Given the description of an element on the screen output the (x, y) to click on. 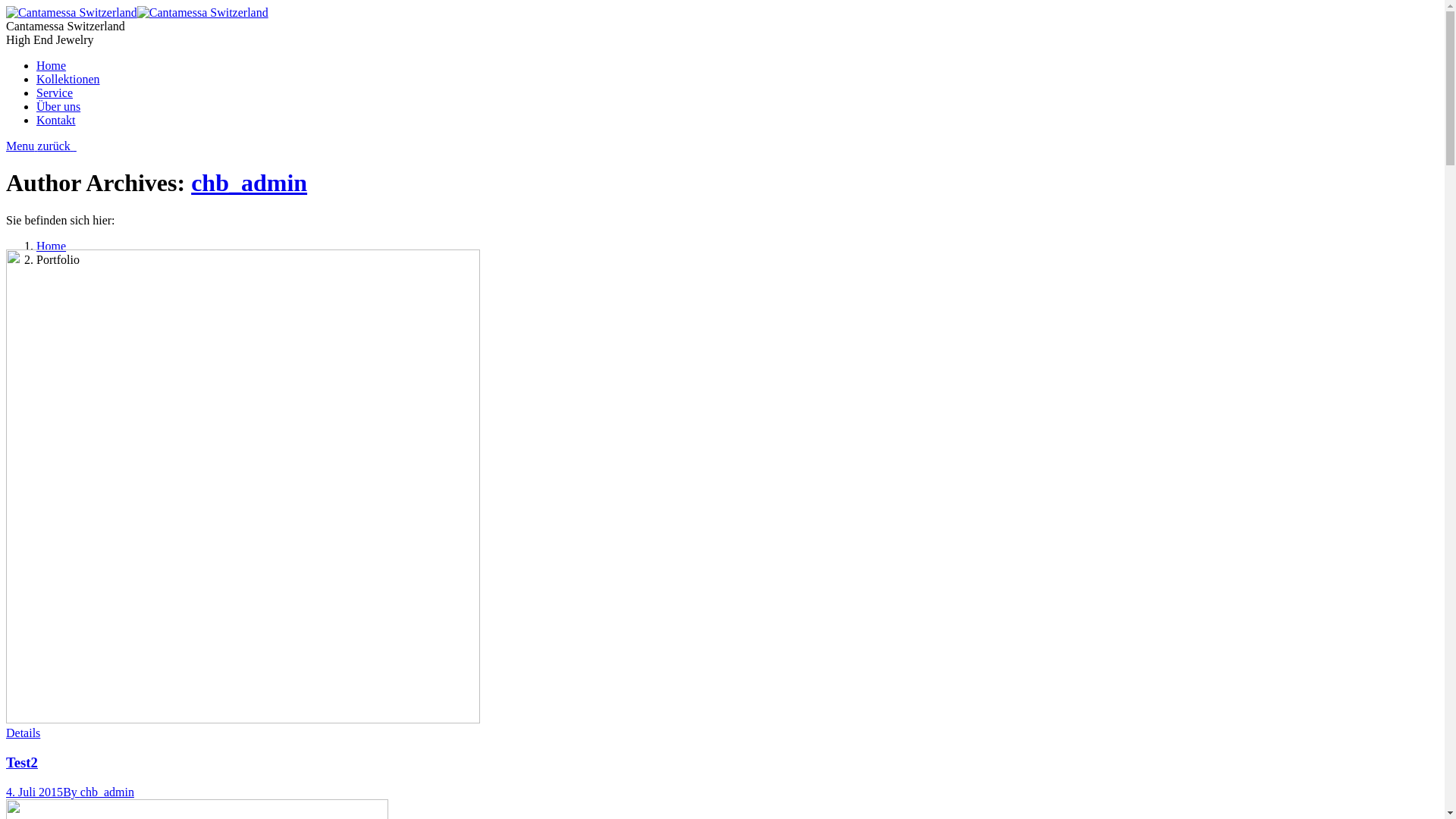
Service Element type: text (54, 92)
4. Juli 2015 Element type: text (34, 791)
Details Element type: text (23, 732)
By chb_admin Element type: text (98, 791)
Home Element type: text (50, 245)
Kollektionen Element type: text (68, 78)
Test2 Element type: text (21, 762)
chb_admin Element type: text (249, 182)
Home Element type: text (50, 65)
Kontakt Element type: text (55, 119)
